Given the description of an element on the screen output the (x, y) to click on. 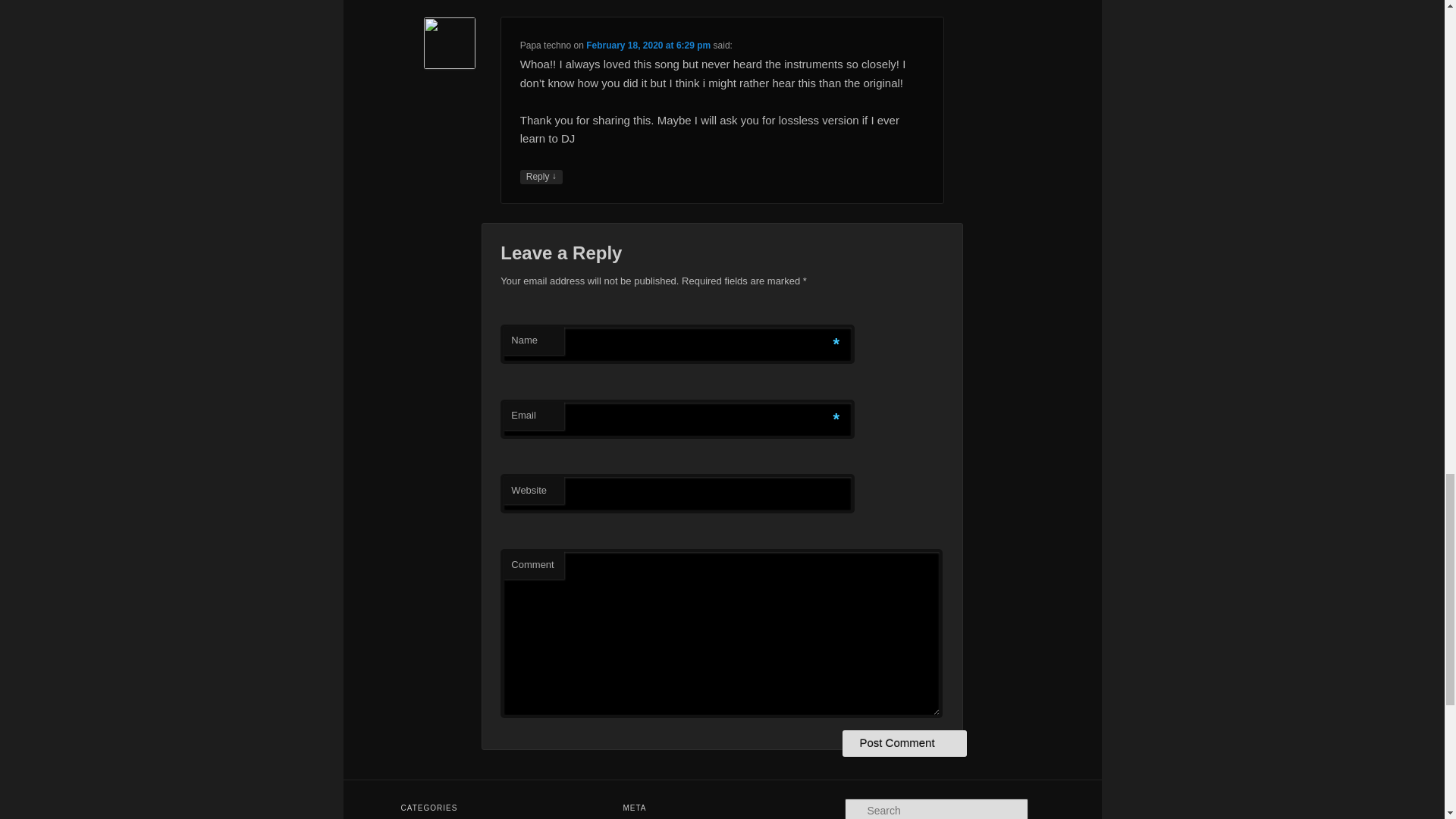
Post Comment (904, 742)
